Given the description of an element on the screen output the (x, y) to click on. 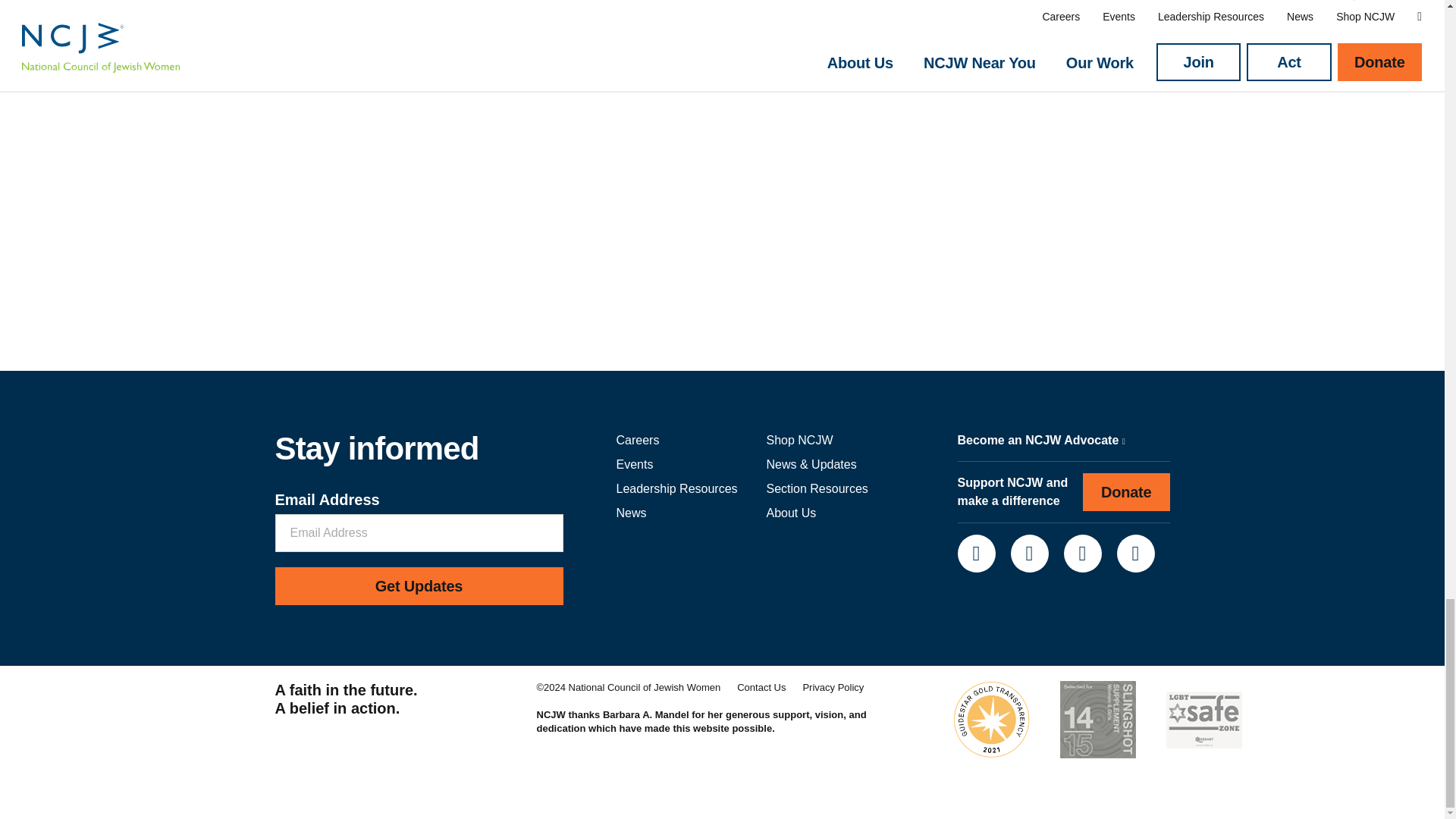
News (630, 512)
Careers (637, 440)
Shop NCJW (798, 440)
Get Updates (418, 586)
Leadership Resources (675, 488)
Events (633, 463)
